Given the description of an element on the screen output the (x, y) to click on. 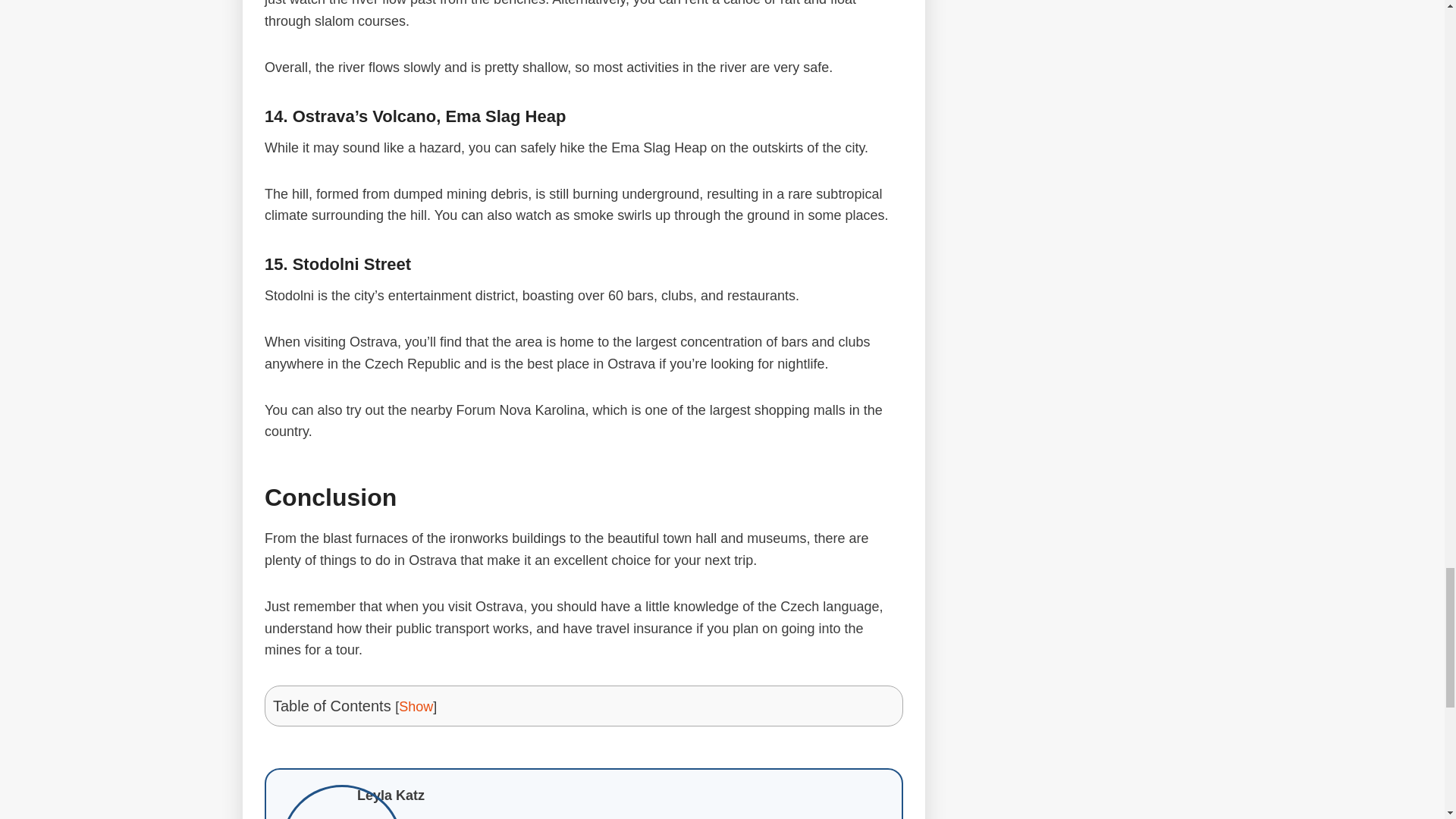
Show (415, 706)
Posts by Leyla Katz (390, 795)
